Given the description of an element on the screen output the (x, y) to click on. 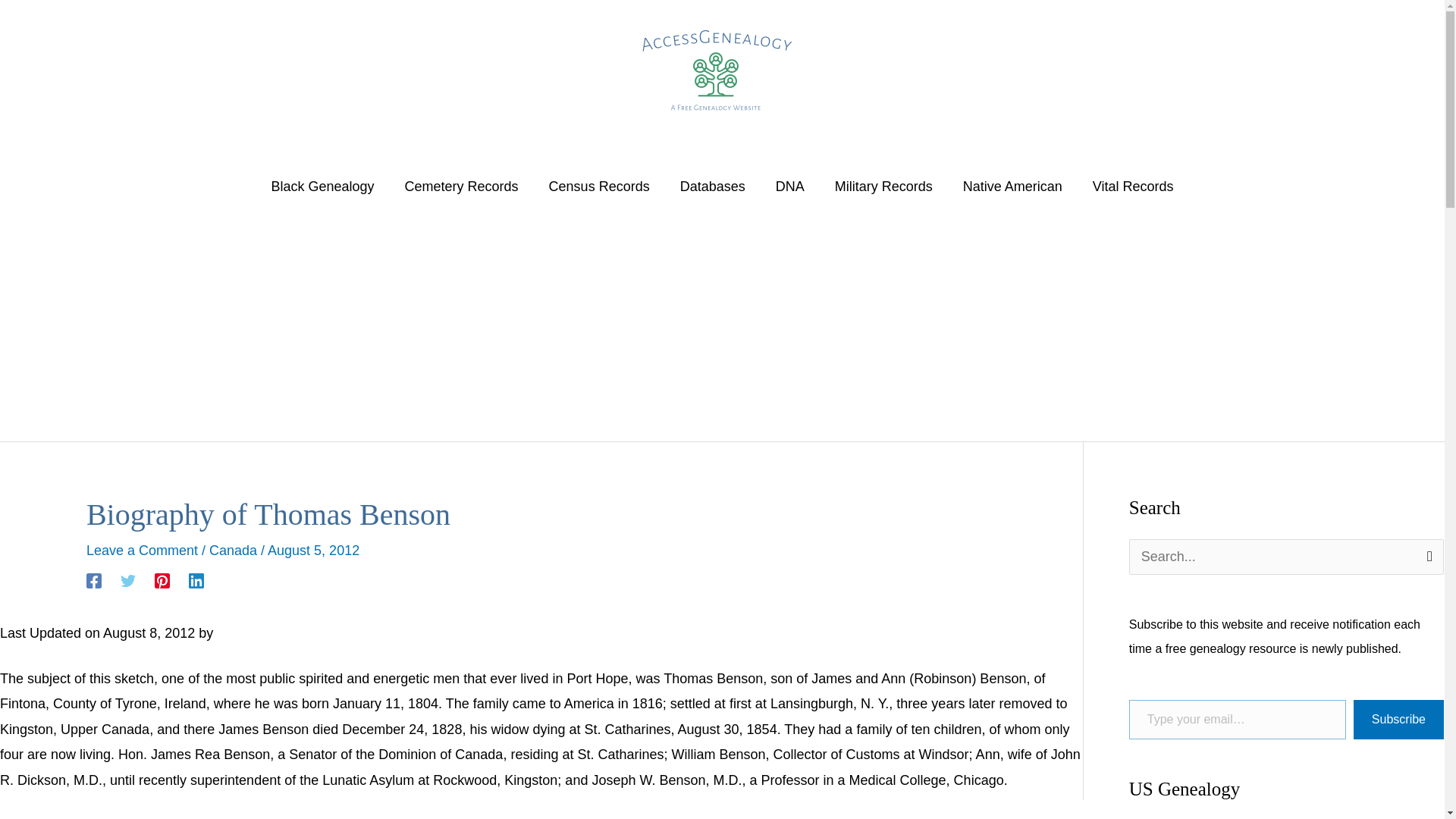
Census Records (599, 185)
DNA (789, 185)
United States Vital Records (1133, 185)
Vital Records (1133, 185)
Native American (1012, 185)
Native American History and Genealogy (1012, 185)
United States Cemetery Records (462, 185)
Genealogy Databases (712, 185)
Military Records (883, 185)
United States Military Records (883, 185)
Leave a Comment (141, 549)
Subscribe (1399, 720)
Databases (712, 185)
Please fill in this field. (1237, 720)
